Given the description of an element on the screen output the (x, y) to click on. 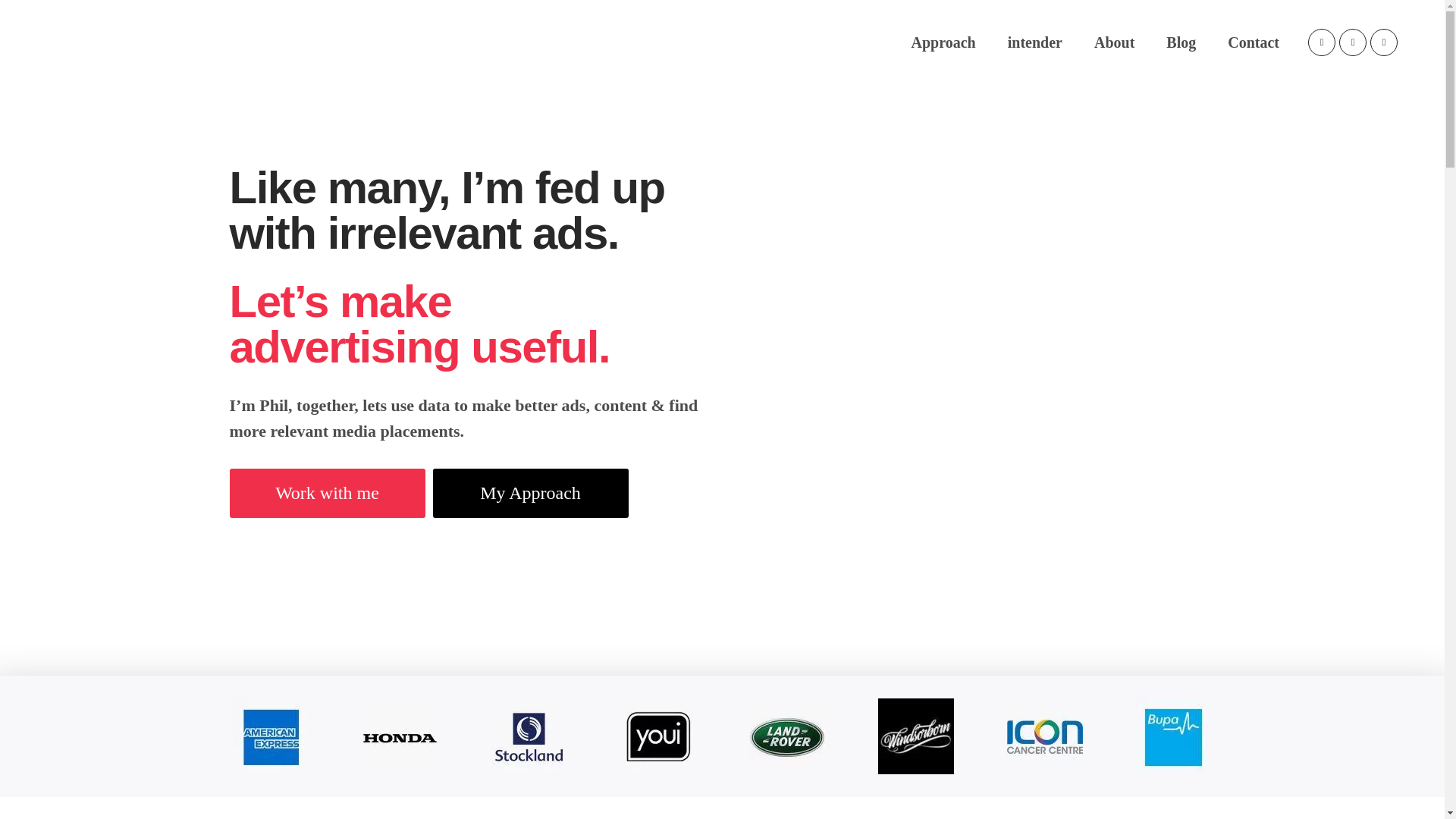
AMEX (270, 735)
Approach (943, 42)
Honda (400, 735)
Land Rover (787, 735)
Windosrborn Logo (915, 735)
Youi (657, 735)
Work with me (326, 492)
Bupa (1173, 735)
Stockland (529, 735)
Icon (1045, 735)
Contact (1253, 42)
intender (1034, 42)
My Approach (529, 492)
